Given the description of an element on the screen output the (x, y) to click on. 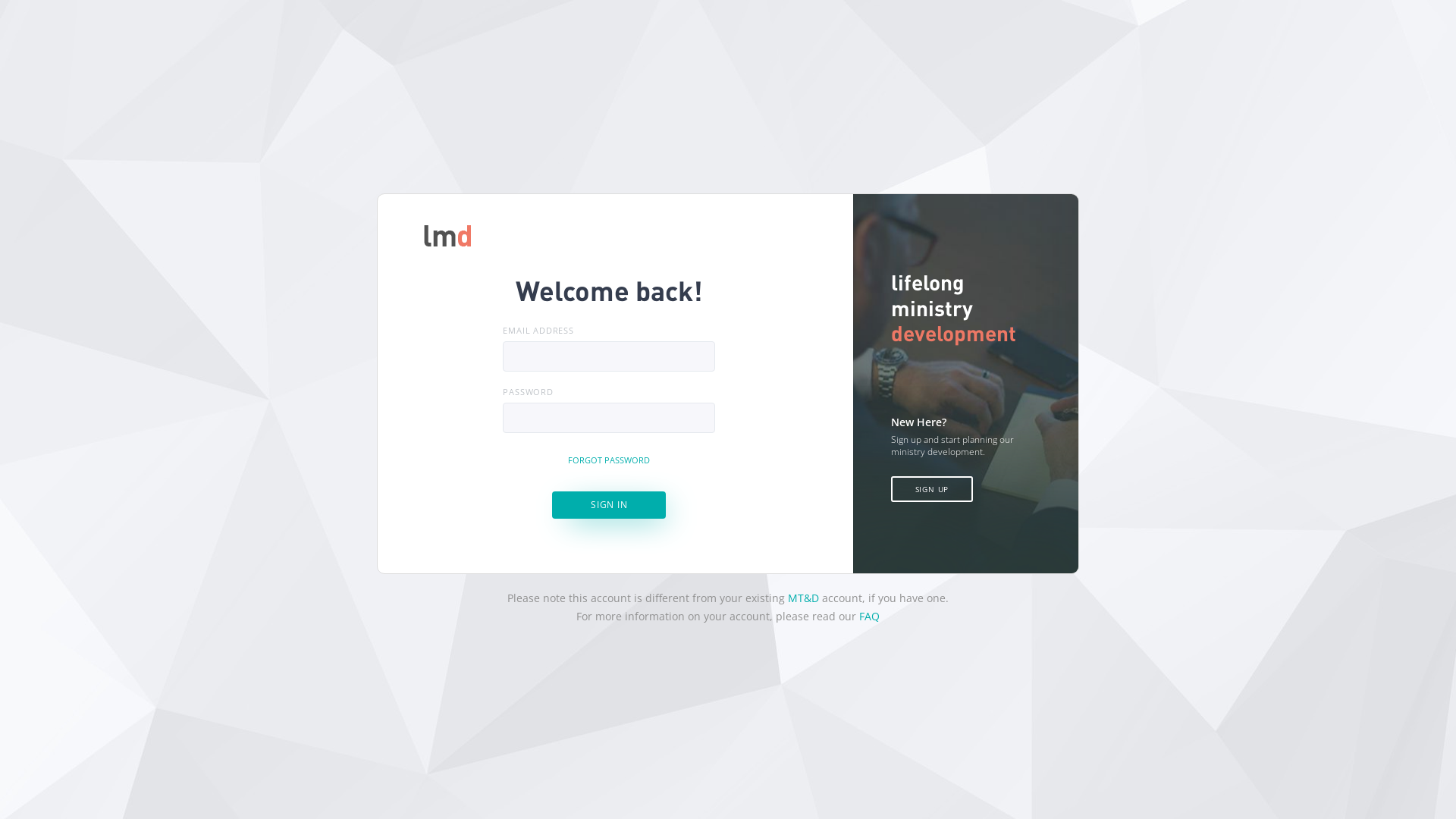
MT&D Element type: text (803, 597)
FAQ Element type: text (869, 615)
SIGN UP Element type: text (932, 489)
FORGOT PASSWORD Element type: text (608, 459)
Sign In Element type: text (608, 504)
